Given the description of an element on the screen output the (x, y) to click on. 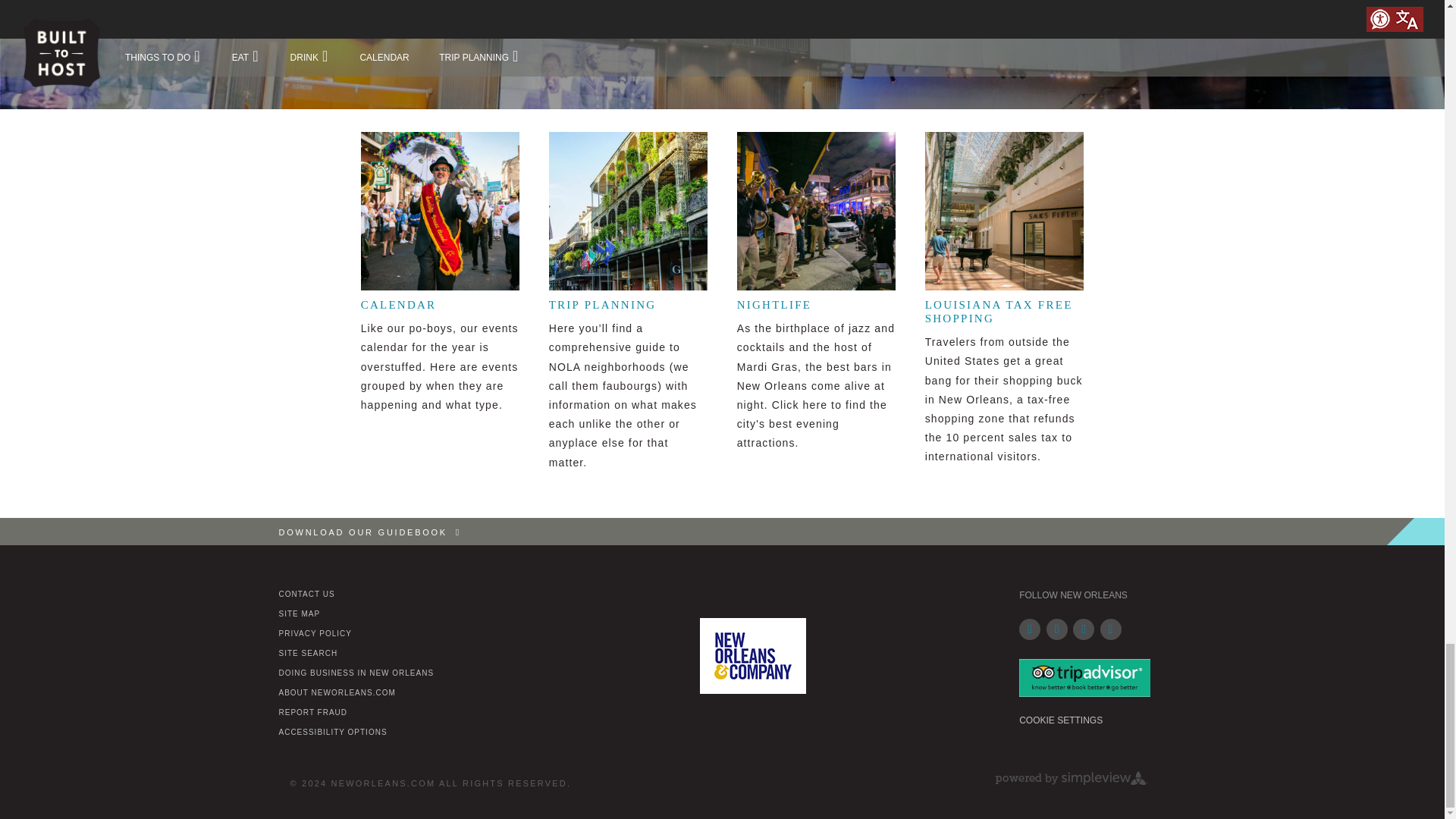
Contact Us (306, 593)
Report Fraud (313, 712)
About NewOrleans.com (337, 692)
Site Map (299, 613)
Doing Business in New Orleans (356, 673)
Privacy Policy (315, 633)
Site Search (308, 653)
Accessibility Options (333, 732)
